Given the description of an element on the screen output the (x, y) to click on. 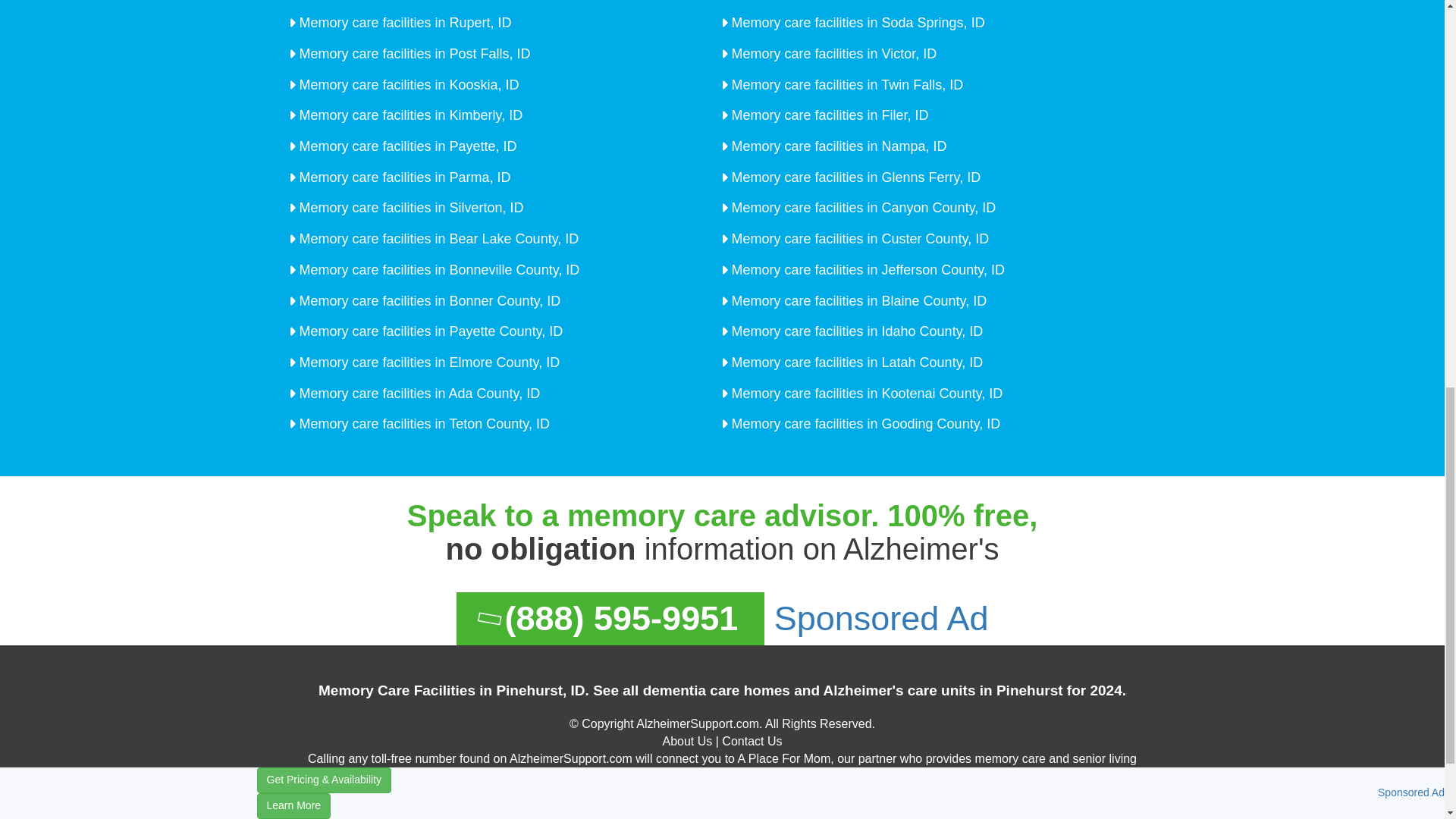
Memory care facilities in Bonneville County, ID (437, 269)
Memory care facilities in Parma, ID (403, 177)
Memory care facilities in Jefferson County, ID (866, 269)
Memory care facilities in Victor, ID (832, 53)
Memory care facilities in Bonner County, ID (427, 300)
Memory care facilities in Latah County, ID (856, 362)
Memory care facilities in Blaine County, ID (857, 300)
Memory care facilities in Soda Springs, ID (856, 22)
Rupert, ID Memory Care (403, 22)
Memory care facilities in Elmore County, ID (427, 362)
